Given the description of an element on the screen output the (x, y) to click on. 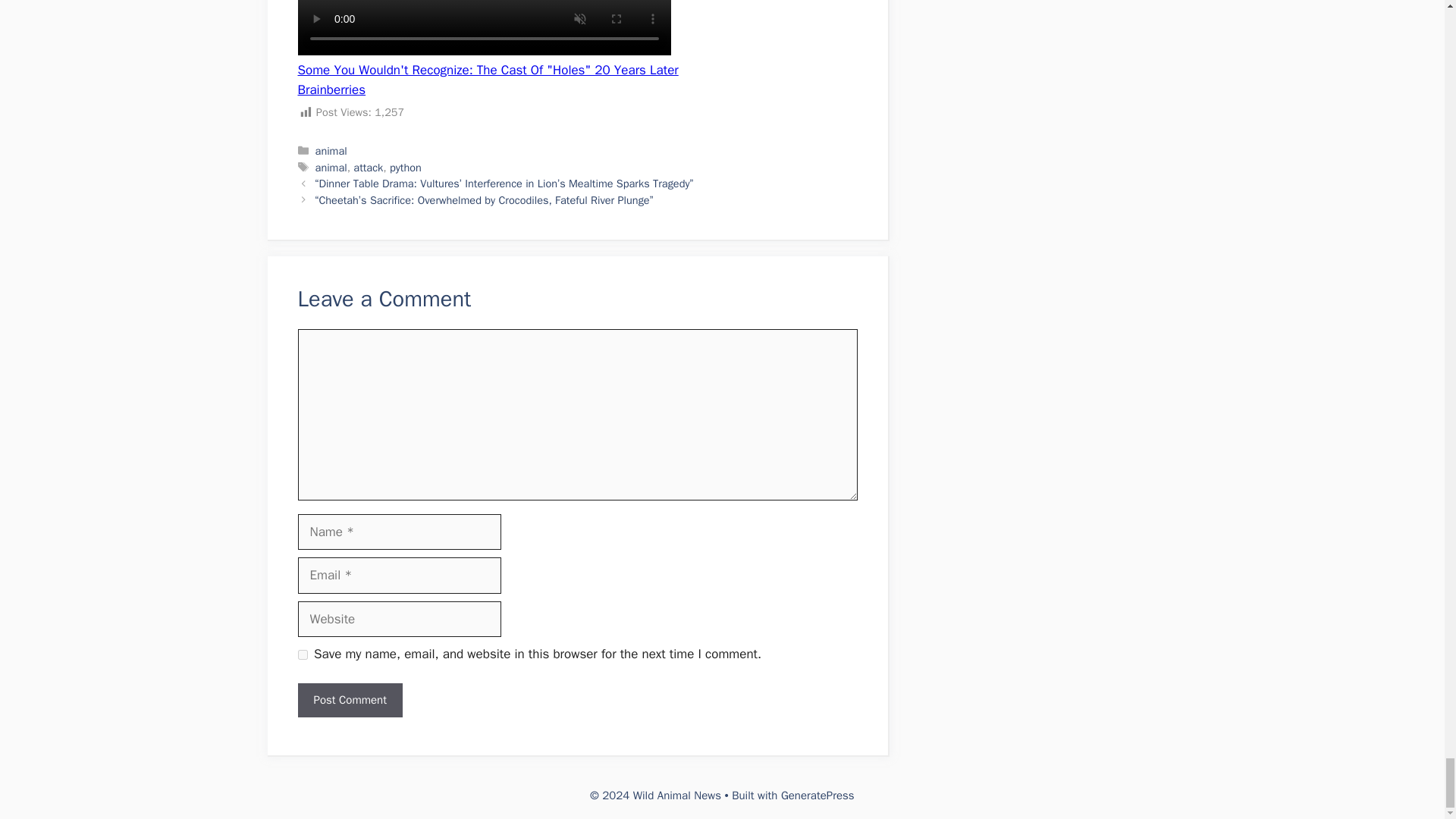
yes (302, 655)
attack (367, 167)
animal (331, 151)
GeneratePress (817, 795)
Post Comment (349, 700)
Post Comment (349, 700)
python (406, 167)
animal (331, 167)
